Given the description of an element on the screen output the (x, y) to click on. 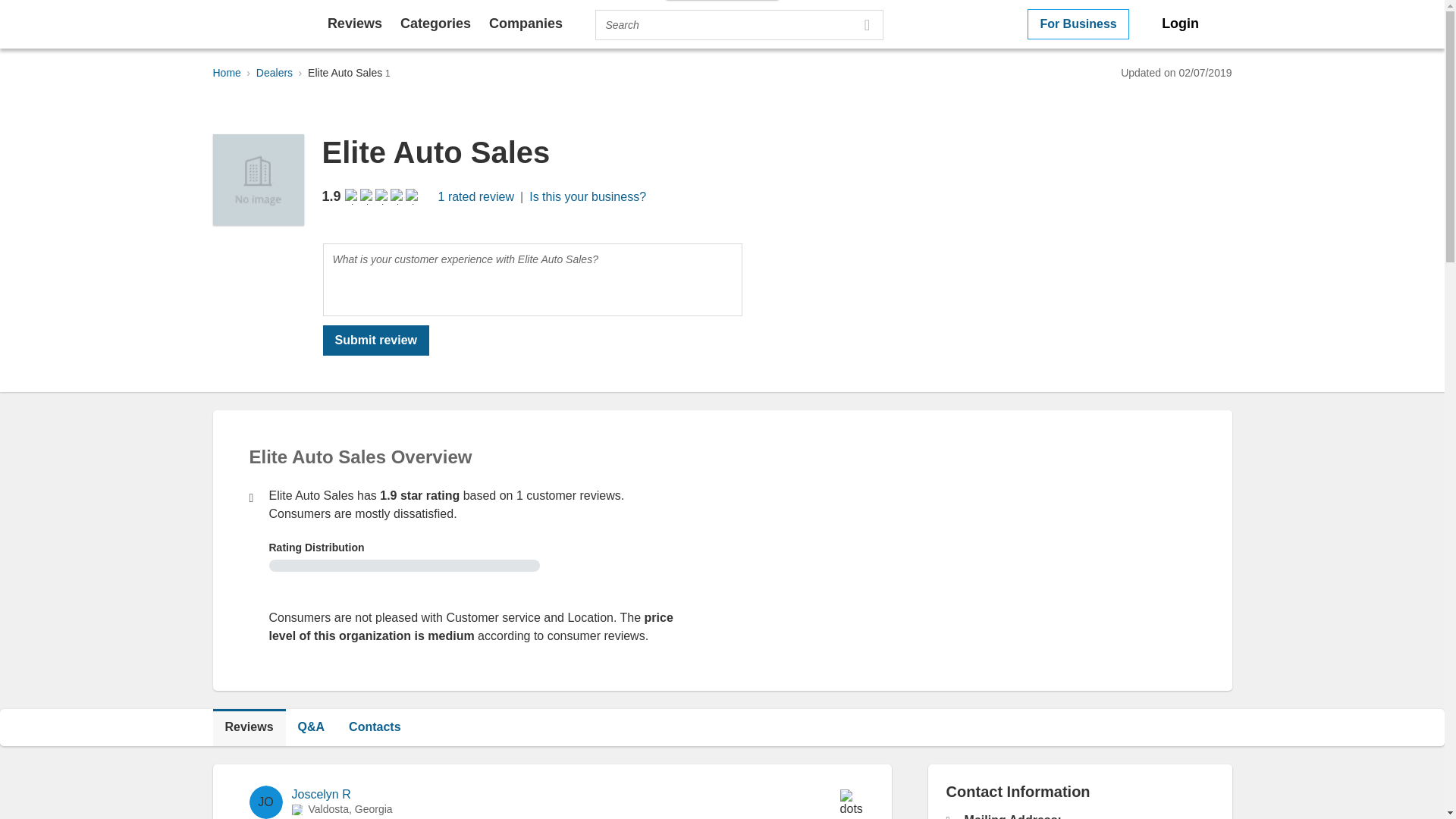
Home (226, 72)
Contacts (374, 727)
Dealers (274, 72)
Companies (525, 23)
Joscelyn R (320, 793)
Submit review (376, 340)
For Business (1077, 24)
PissedConsumer (253, 23)
Reviews (248, 727)
Categories (435, 23)
